Given the description of an element on the screen output the (x, y) to click on. 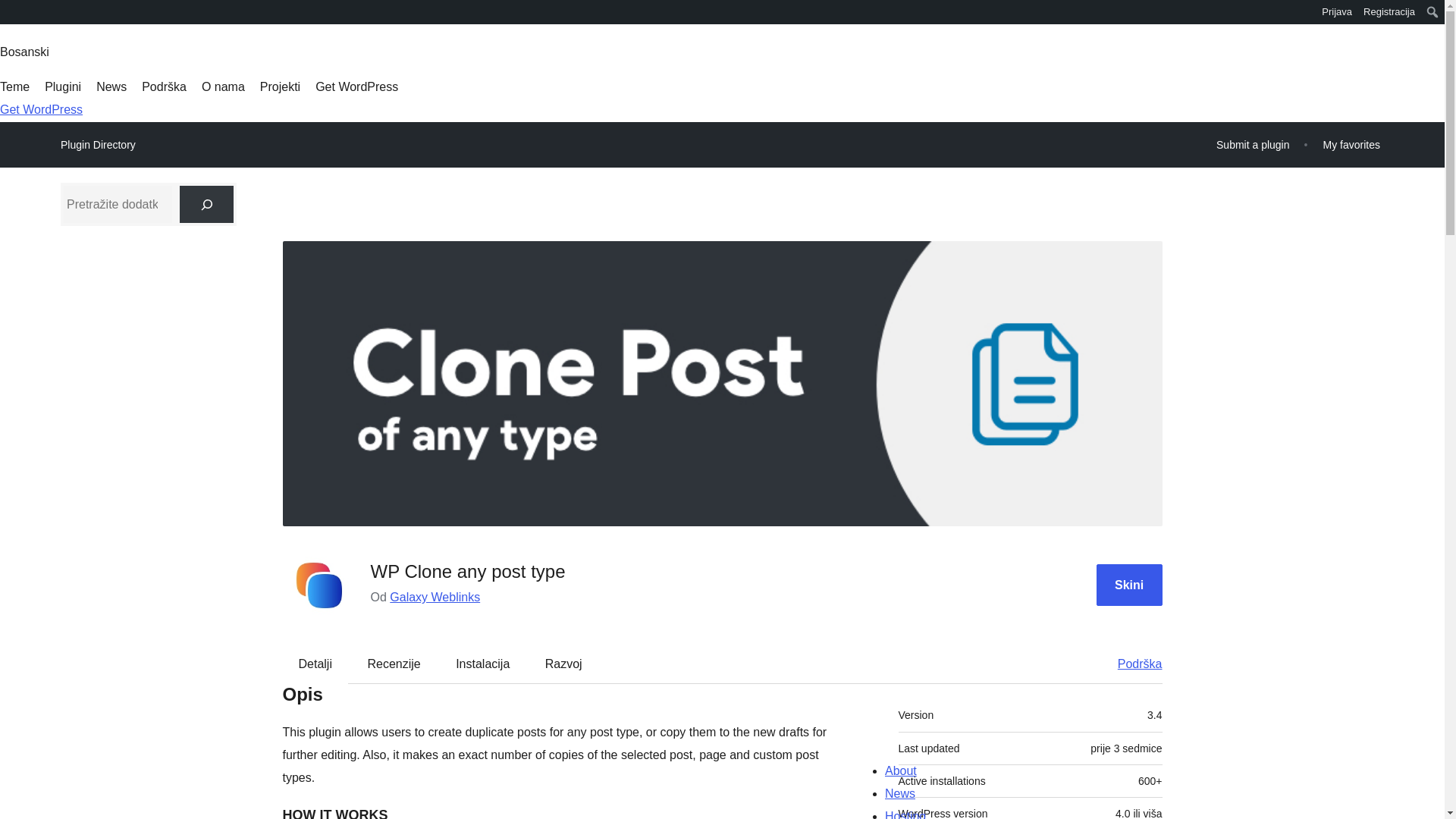
News (111, 87)
Projekti (279, 87)
WordPress.org (10, 16)
My favorites (1351, 144)
Detalji (315, 664)
Get WordPress (41, 109)
O nama (223, 87)
Plugini (63, 87)
Galaxy Weblinks (435, 596)
Plugin Directory (97, 144)
